Given the description of an element on the screen output the (x, y) to click on. 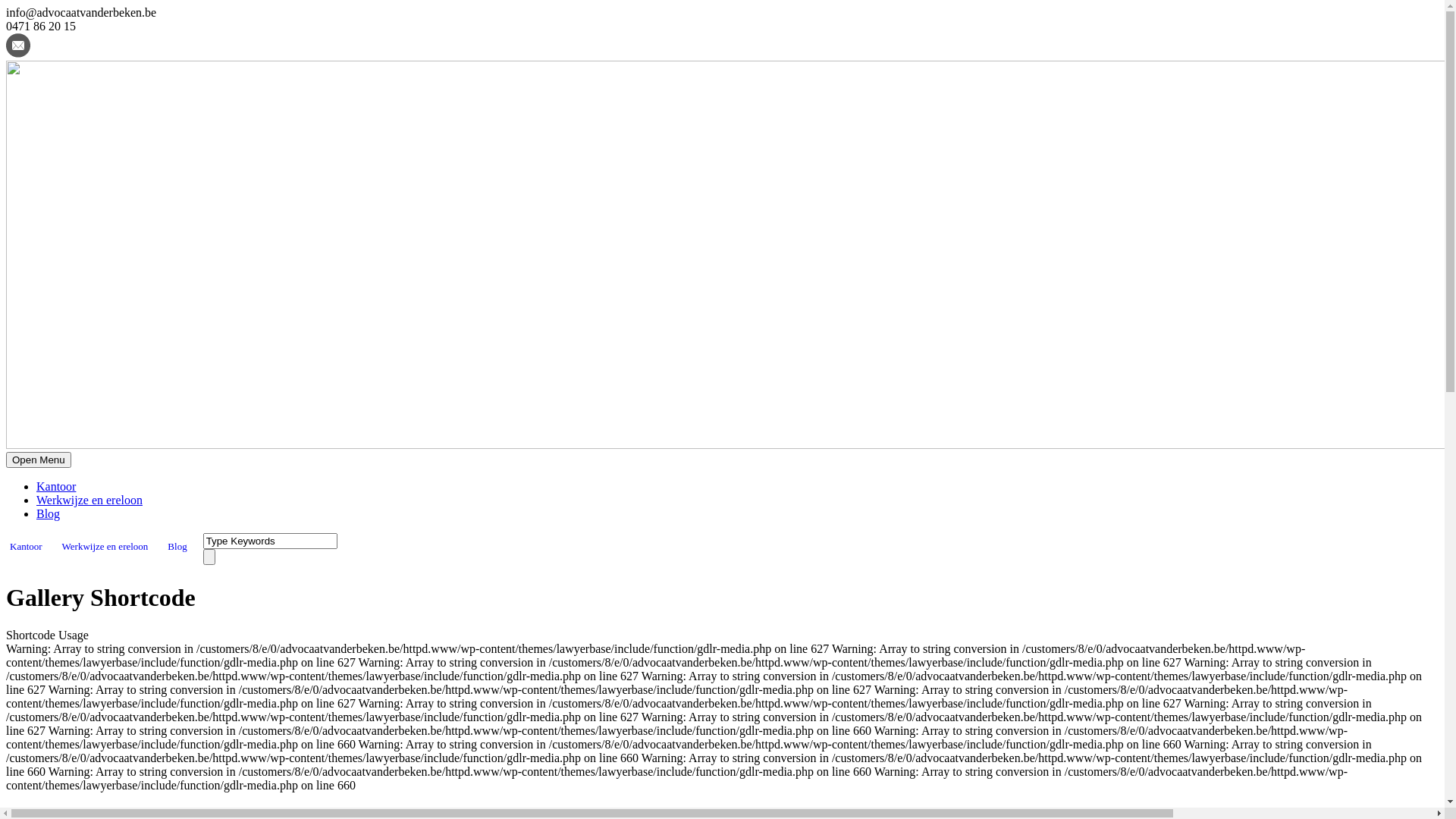
Kantoor Element type: text (55, 486)
Werkwijze en ereloon Element type: text (89, 499)
Werkwijze en ereloon Element type: text (105, 546)
Open Menu Element type: text (38, 459)
Kantoor Element type: text (26, 546)
Blog Element type: text (47, 513)
Blog Element type: text (176, 546)
